Given the description of an element on the screen output the (x, y) to click on. 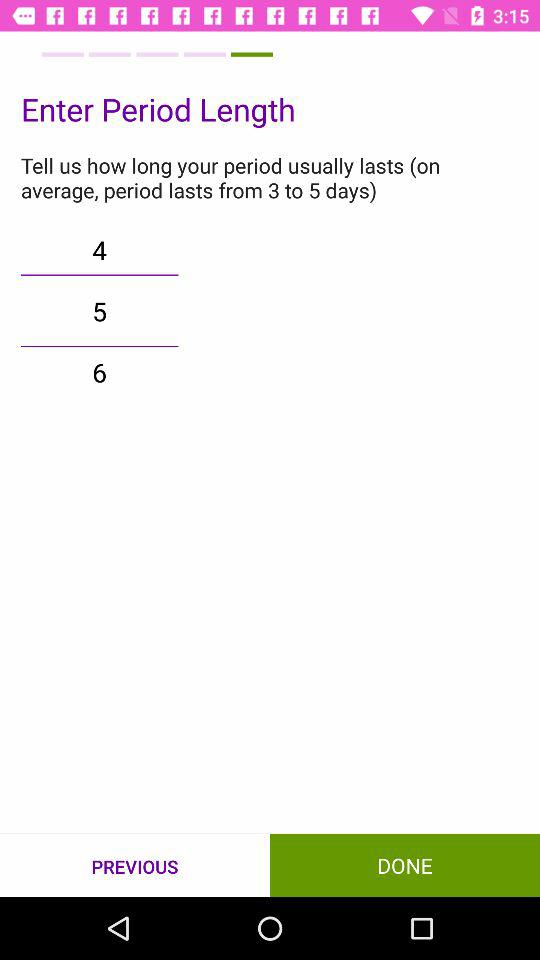
select item to the right of the previous icon (405, 864)
